Given the description of an element on the screen output the (x, y) to click on. 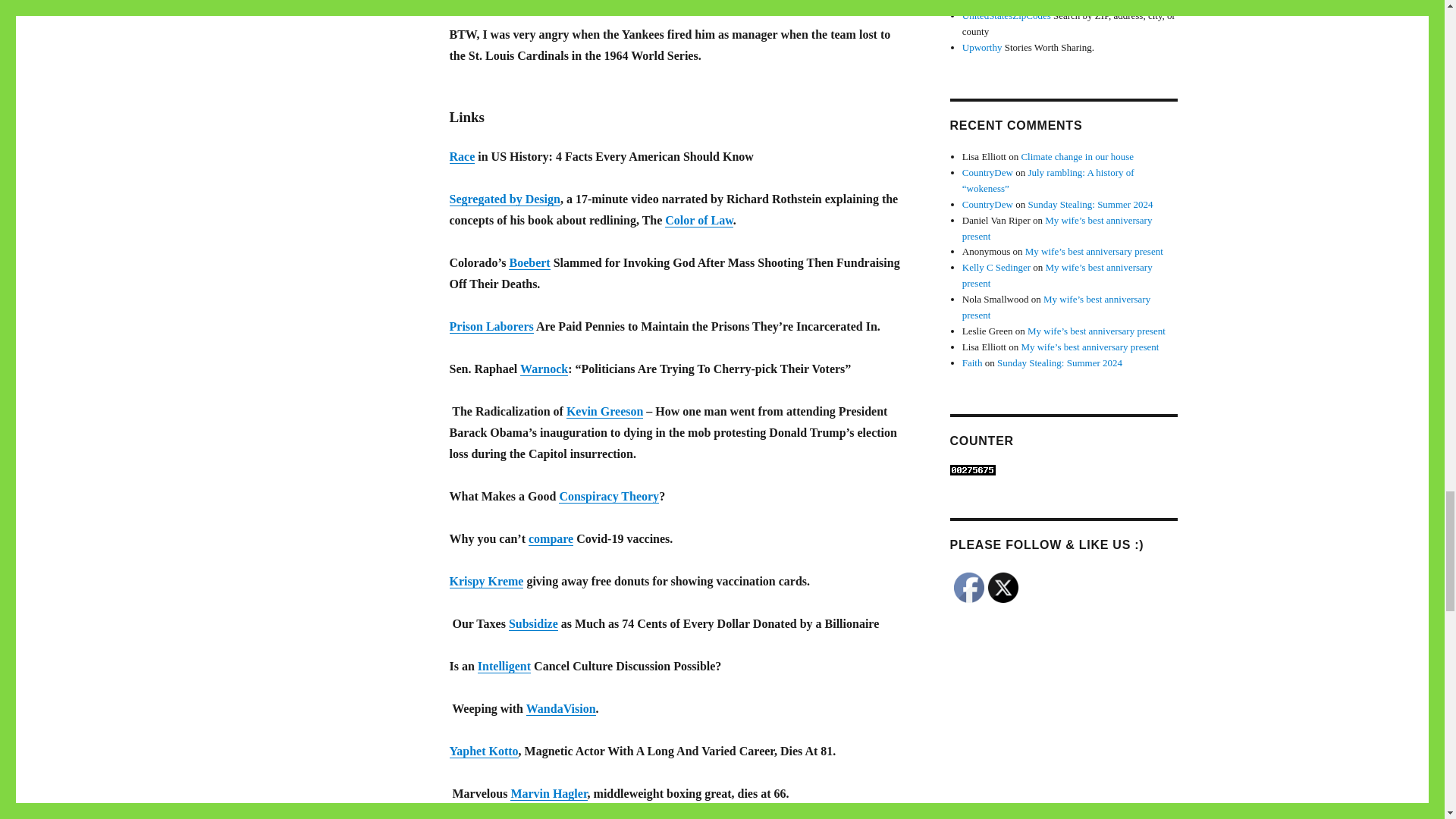
Race (461, 155)
Segregated by Design (503, 198)
